Given the description of an element on the screen output the (x, y) to click on. 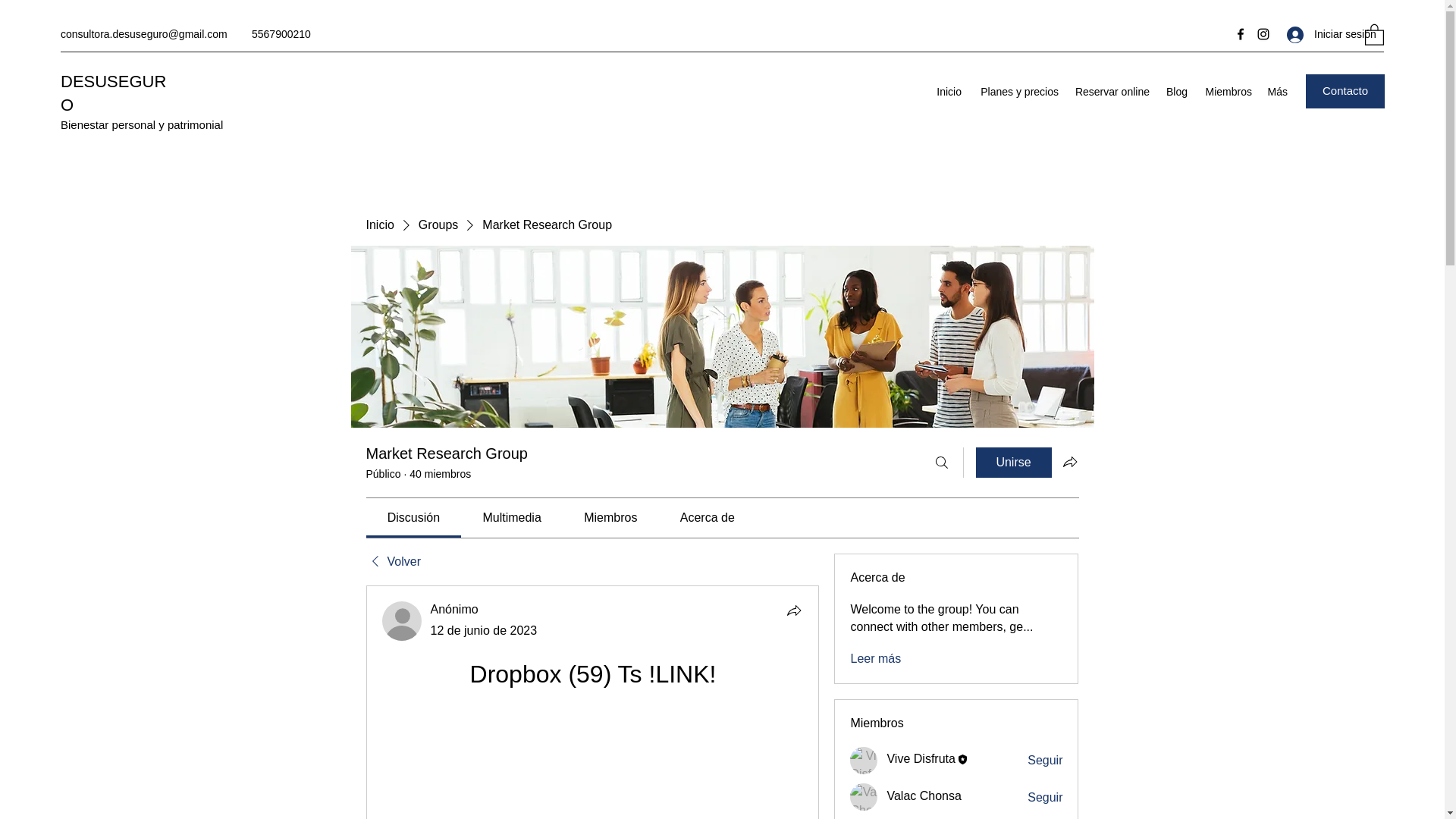
Contacto (1345, 91)
Miembros (1227, 91)
Volver (392, 561)
Vive Disfruta (920, 759)
Inicio (948, 91)
Valac Chonsa (863, 796)
Vive Disfruta (920, 759)
12 de junio de 2023 (483, 630)
DESUSEGURO (113, 93)
Groups (438, 225)
